Given the description of an element on the screen output the (x, y) to click on. 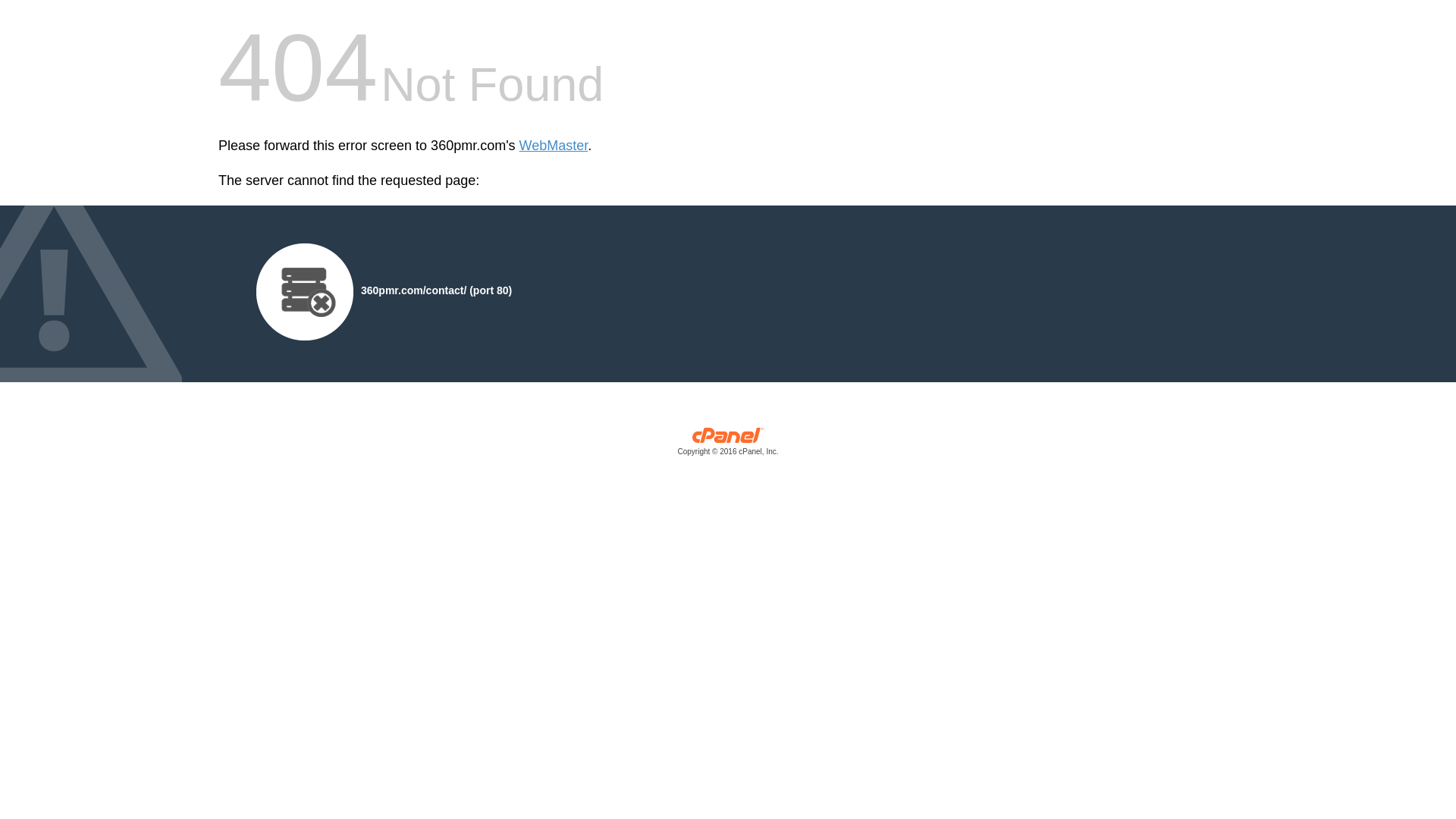
WebMaster Element type: text (553, 145)
